Given the description of an element on the screen output the (x, y) to click on. 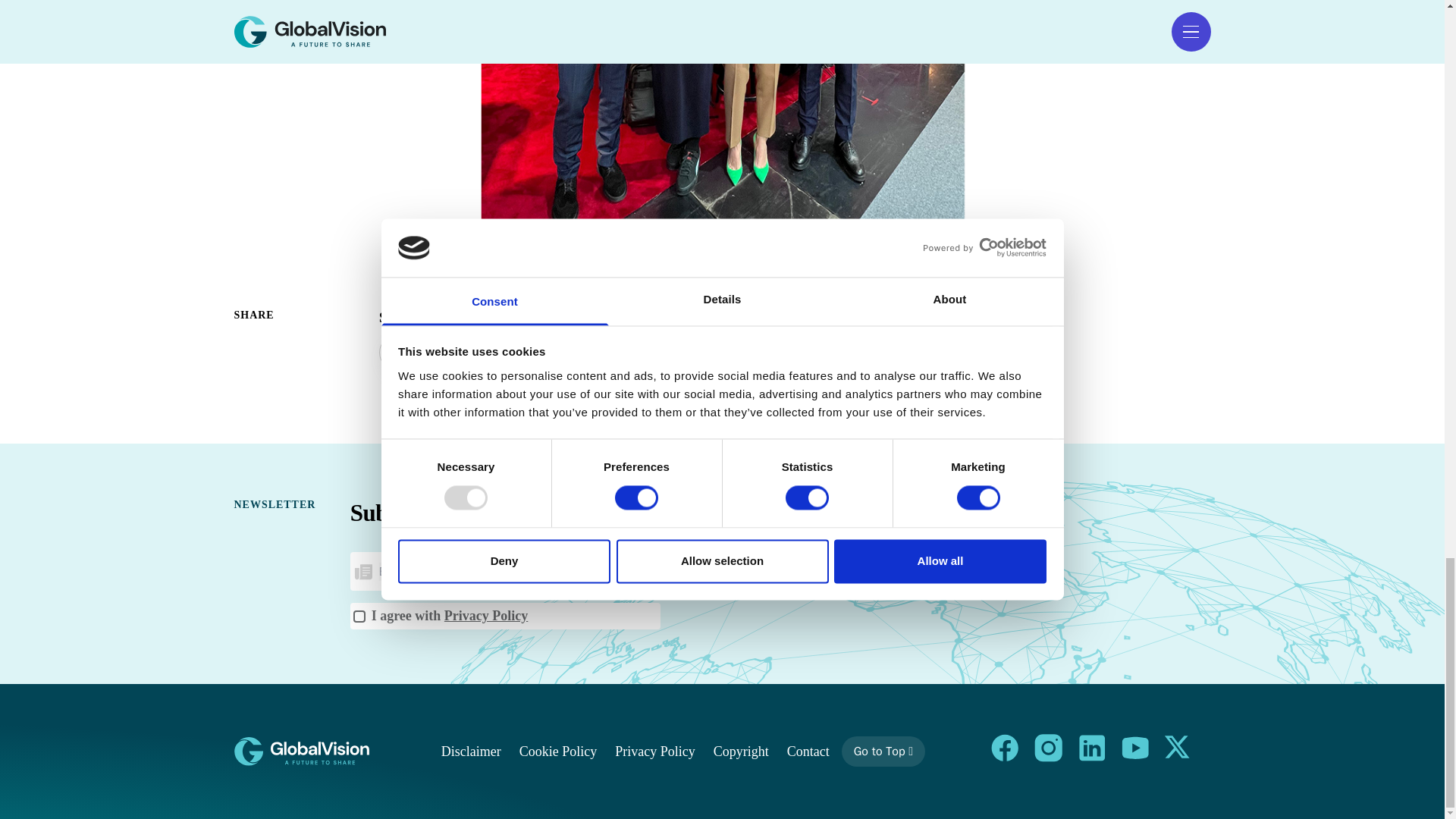
Subscribe (613, 571)
